Given the description of an element on the screen output the (x, y) to click on. 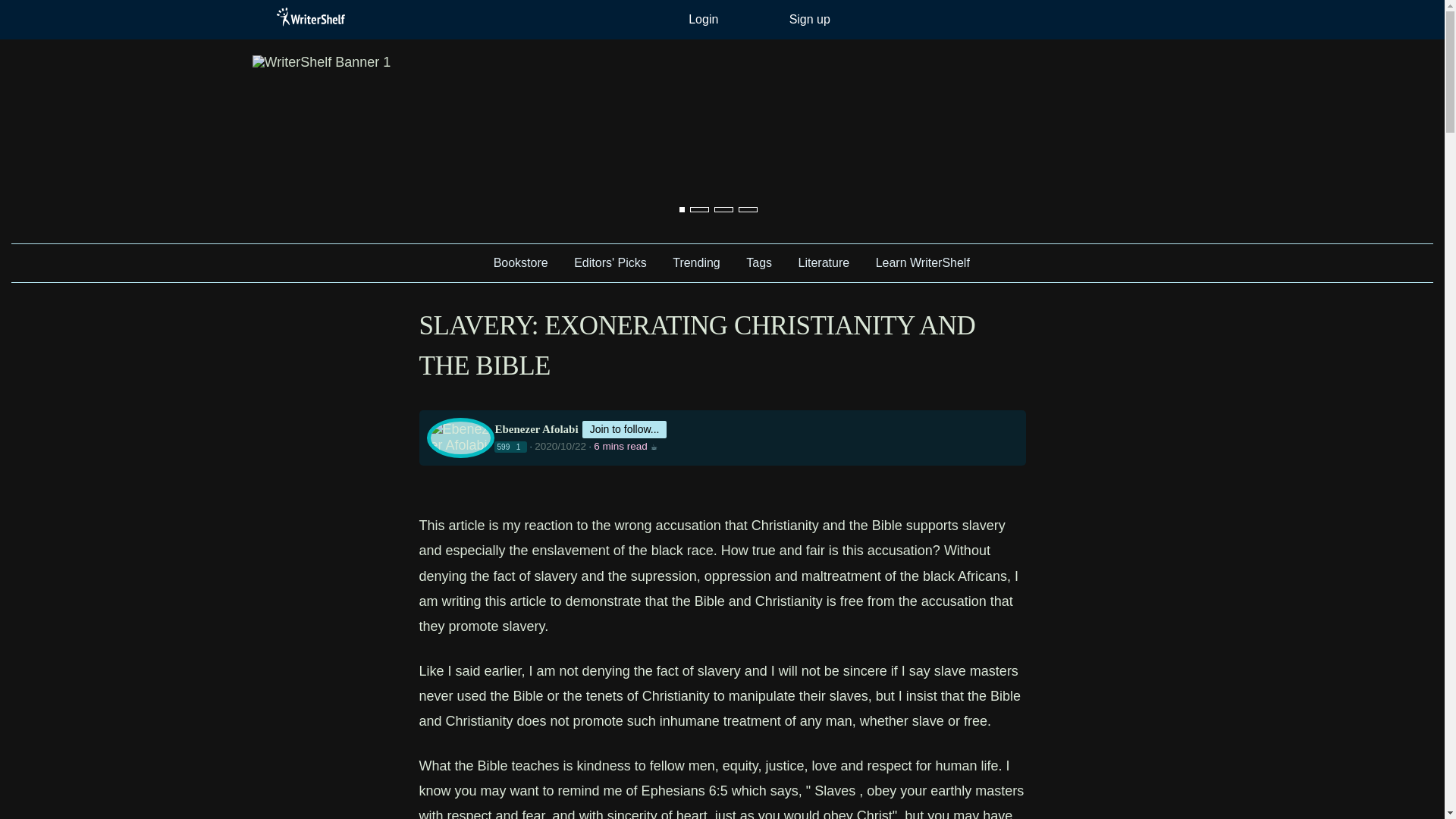
Editors' Picks (610, 262)
Login (703, 19)
WriterShelf topic categories (260, 17)
Trending (696, 262)
Literature (824, 262)
Learn WriterShelf (922, 262)
Sign up (810, 19)
WriterShelf topic categories (467, 255)
Ebenezer Afolabi (536, 428)
Bookstore (520, 262)
